Given the description of an element on the screen output the (x, y) to click on. 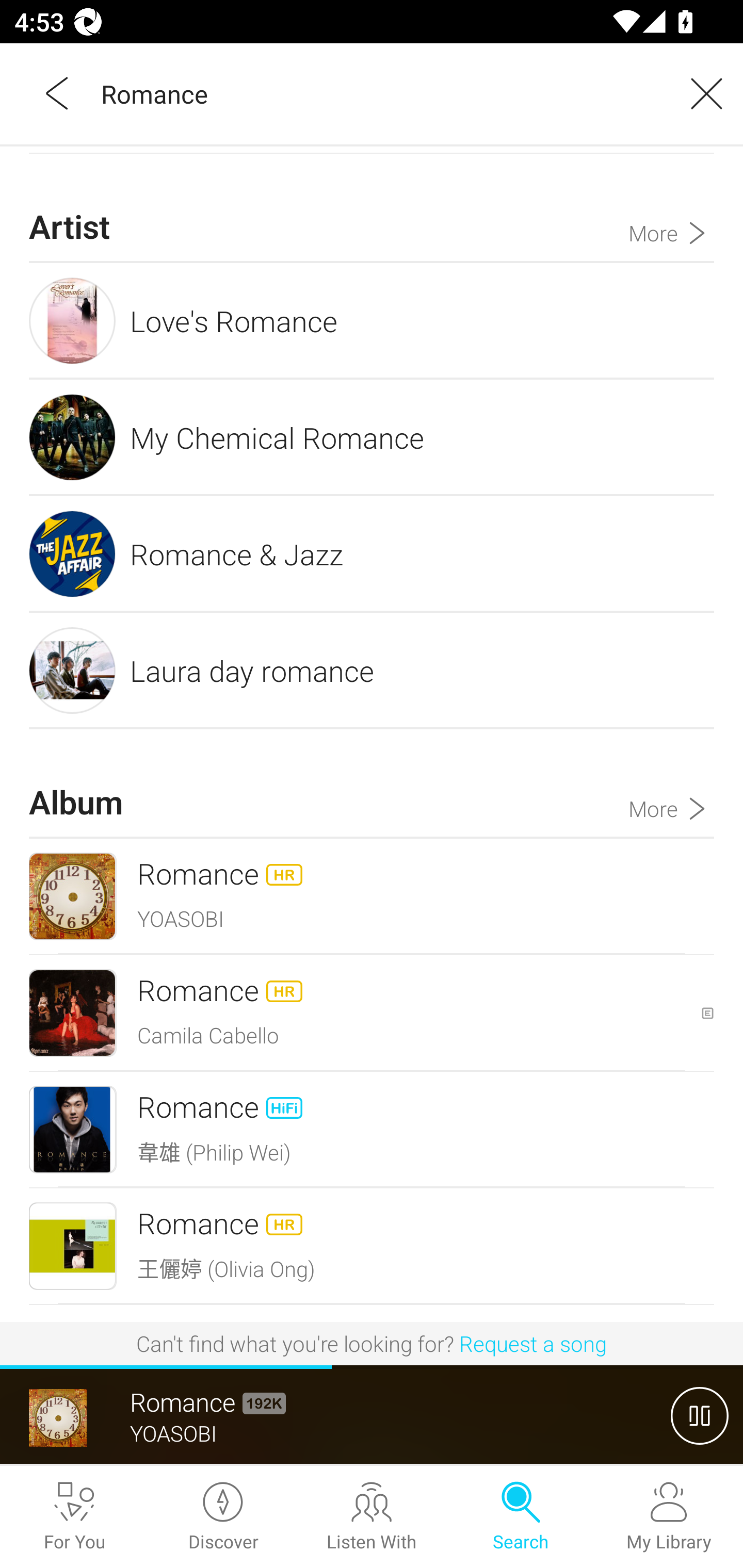
Romance (378, 92)
Clear query (699, 92)
Back,outside of the list (57, 93)
More Artist More (671, 207)
Love's Romance (371, 320)
My Chemical Romance (371, 437)
Romance & Jazz (371, 553)
Laura day romance (371, 670)
More Album More (671, 783)
Romance YOASOBI (371, 896)
Romance Camila Cabello Explicit (371, 1012)
Romance 韋雄 (Philip Wei) (371, 1129)
Romance 王儷婷 (Olivia Ong) (371, 1246)
Can't find what you're looking for? Request a song (371, 1343)
暫停播放 (699, 1415)
For You (74, 1517)
Discover (222, 1517)
Listen With (371, 1517)
Search (519, 1517)
My Library (668, 1517)
